Given the description of an element on the screen output the (x, y) to click on. 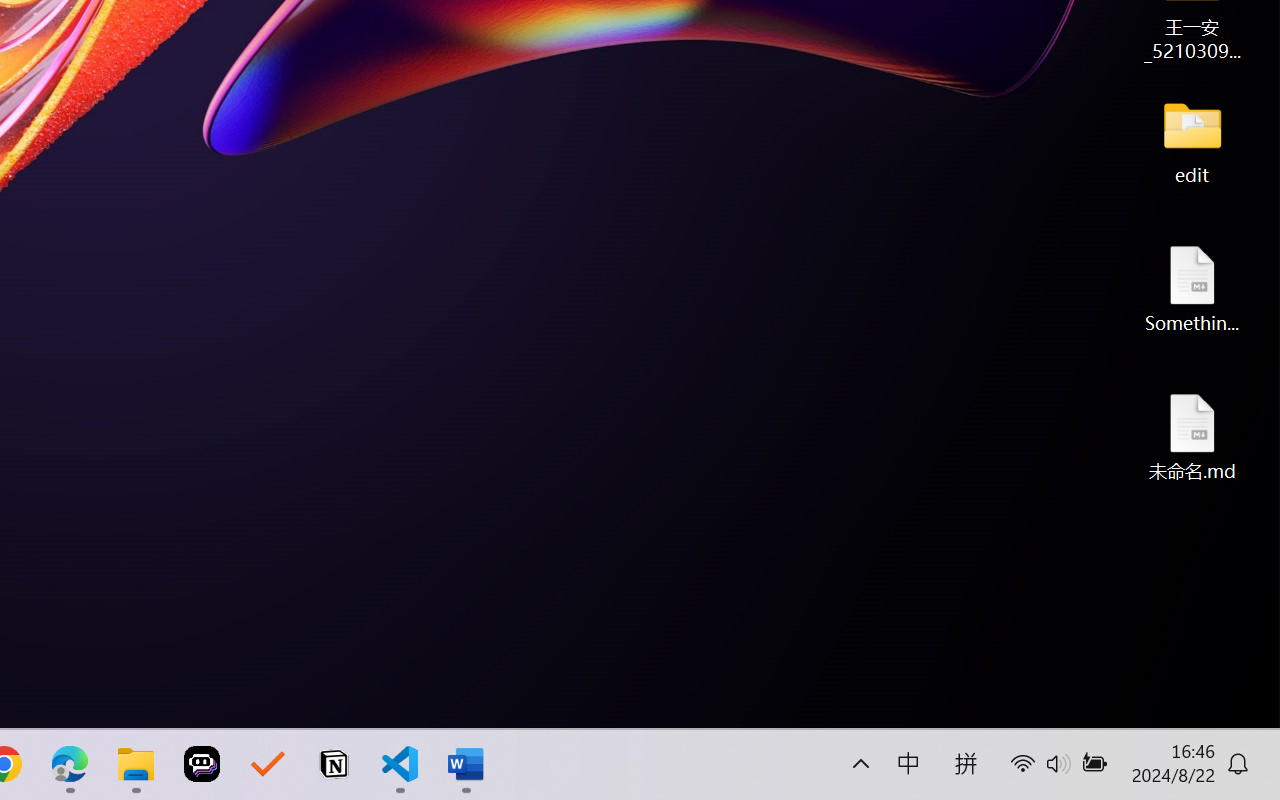
Something.md (1192, 288)
